Given the description of an element on the screen output the (x, y) to click on. 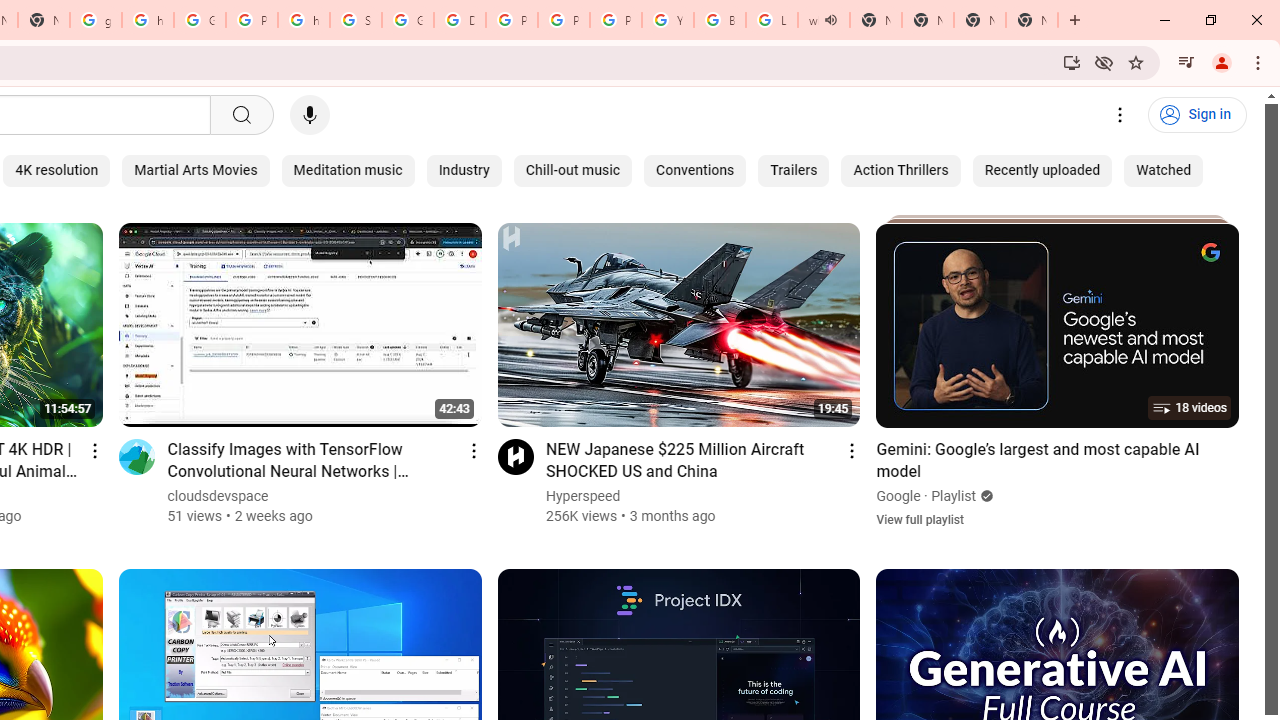
Playlist (953, 496)
Recently uploaded (1042, 170)
Industry (463, 170)
Google (898, 496)
Third-party cookies blocked (1103, 62)
Go to channel (514, 456)
Hyperspeed (583, 496)
Action Thrillers (900, 170)
Conventions (695, 170)
New Tab (979, 20)
https://scholar.google.com/ (303, 20)
